Given the description of an element on the screen output the (x, y) to click on. 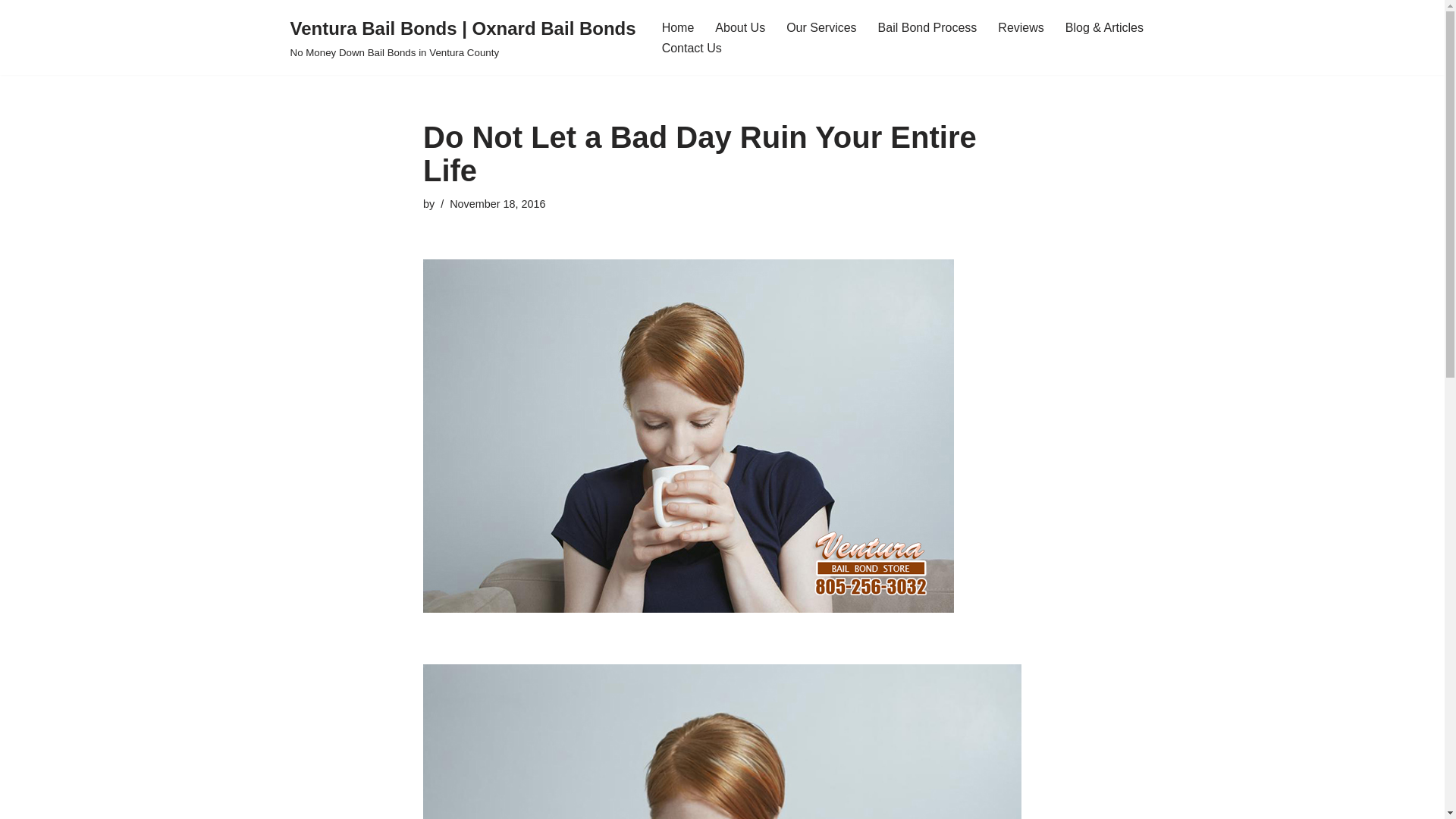
Bail Bond Process (926, 27)
Do Not Let a Bad Day Ruin Your Entire Life (722, 741)
Our Services (821, 27)
Skip to content (11, 31)
Home (678, 27)
Contact Us (692, 47)
Reviews (1020, 27)
About Us (739, 27)
